Given the description of an element on the screen output the (x, y) to click on. 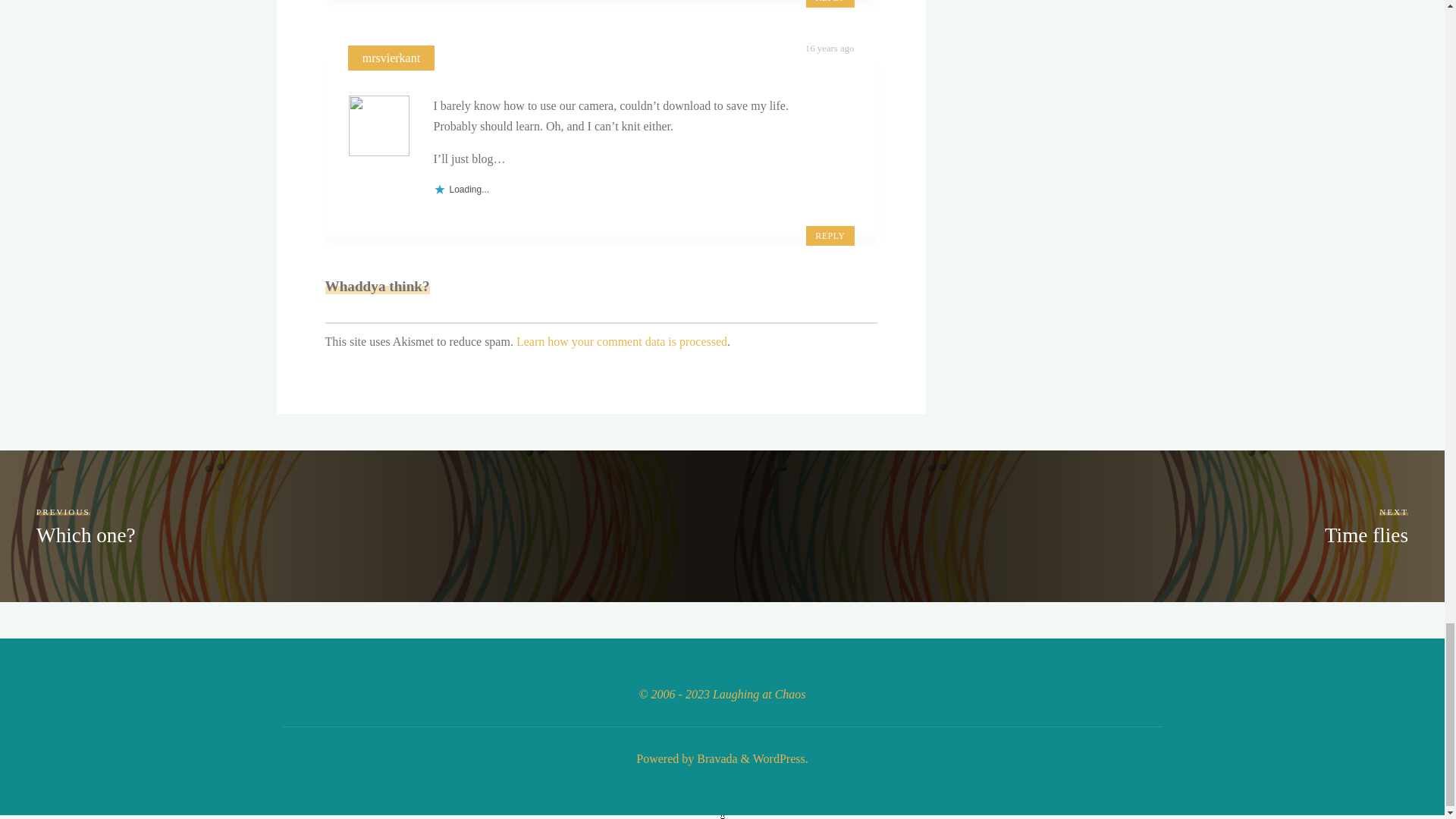
Bravada WordPress Theme by Cryout Creations (715, 758)
Semantic Personal Publishing Platform (778, 758)
